Given the description of an element on the screen output the (x, y) to click on. 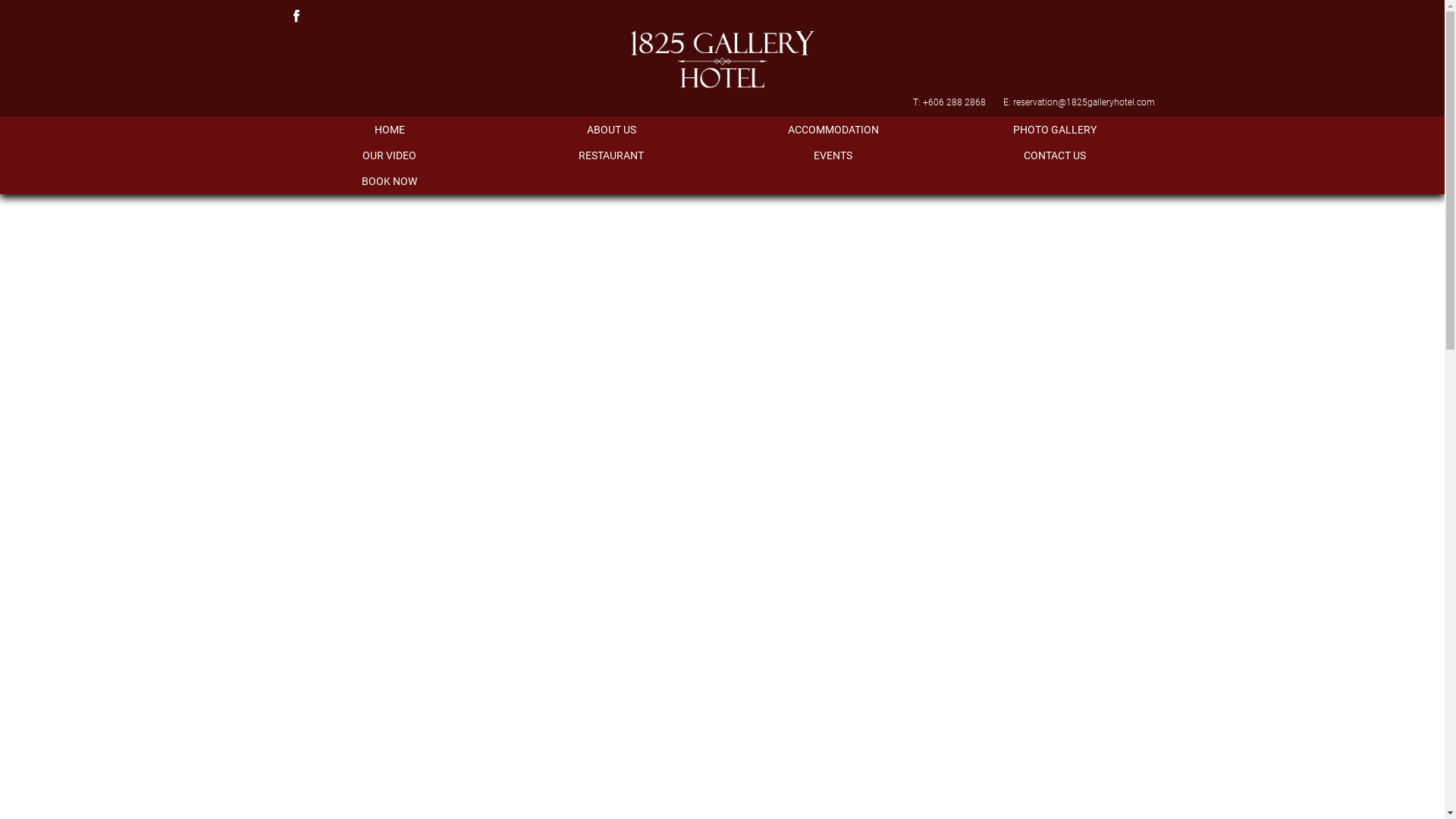
CONTACT US Element type: text (1055, 154)
BOOK NOW Element type: text (390, 180)
PHOTO GALLERY Element type: text (1055, 129)
+606 288 2868 Element type: text (953, 102)
reservation@1825galleryhotel.com Element type: text (1083, 102)
ABOUT US Element type: text (611, 129)
RESTAURANT Element type: text (611, 154)
HOME Element type: text (390, 129)
ACCOMMODATION Element type: text (832, 129)
EVENTS Element type: text (832, 154)
OUR VIDEO Element type: text (390, 154)
